Given the description of an element on the screen output the (x, y) to click on. 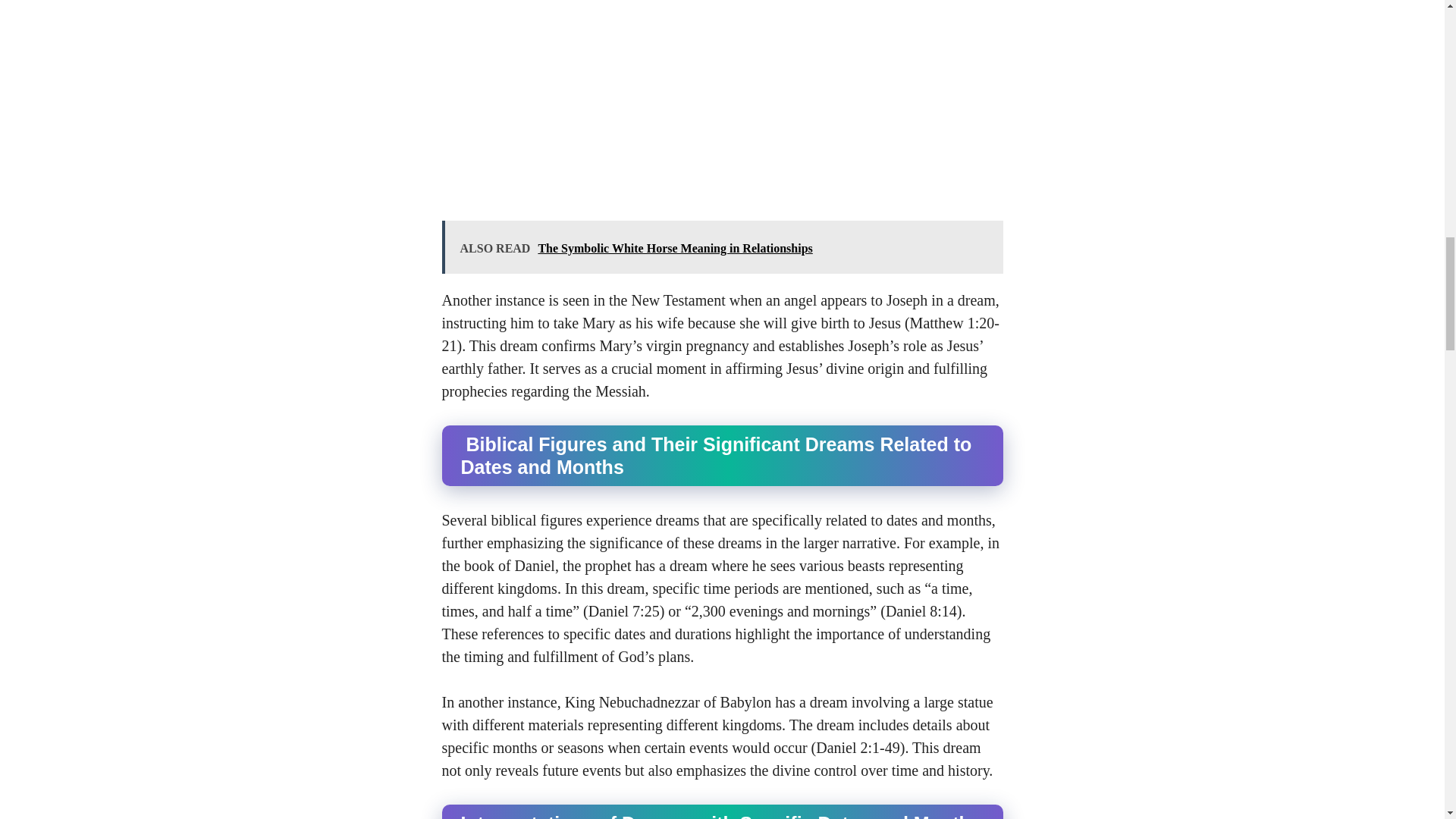
ALSO READ  The Symbolic White Horse Meaning in Relationships (722, 246)
